Given the description of an element on the screen output the (x, y) to click on. 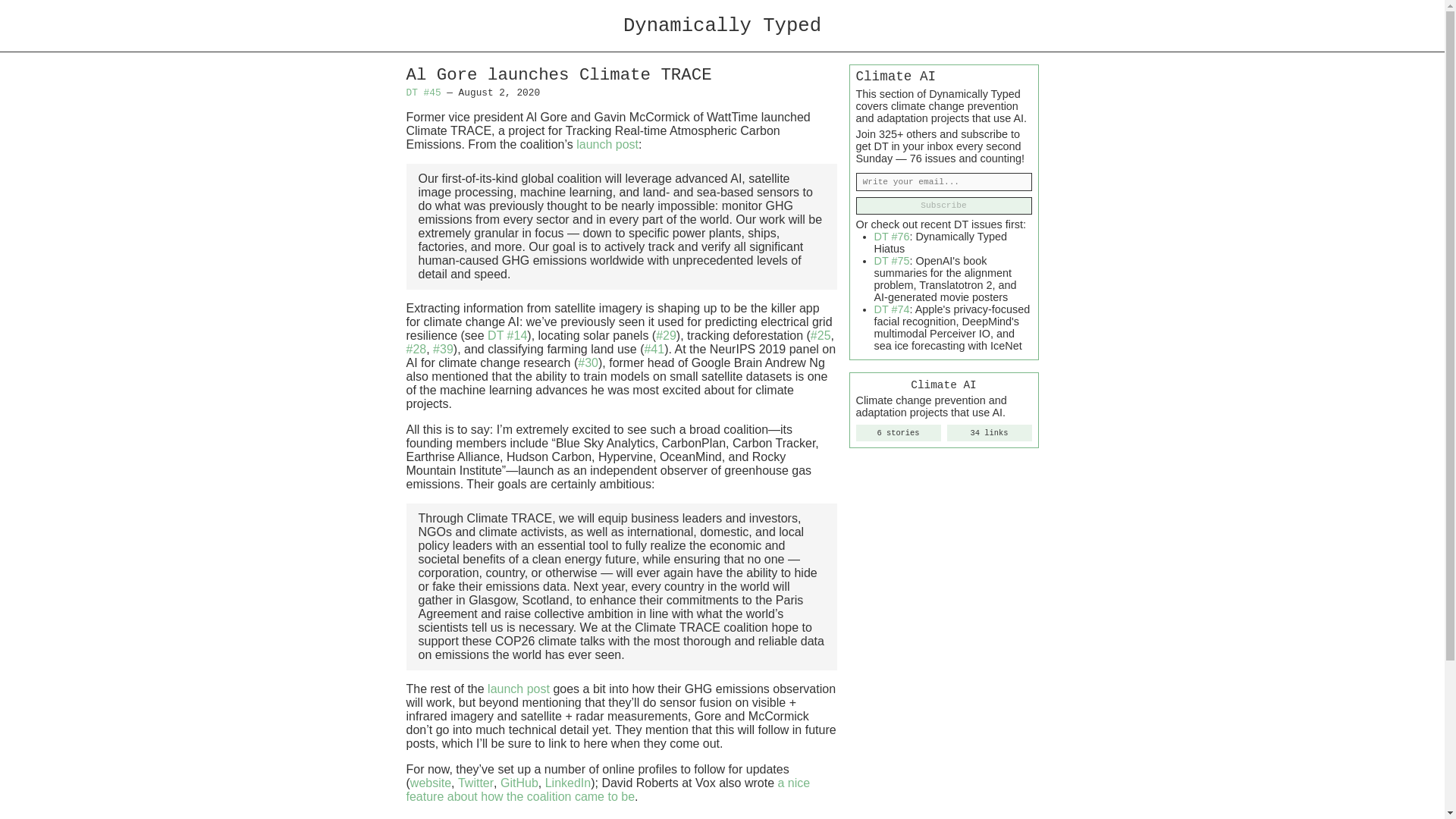
Subscribe (943, 206)
GitHub (519, 782)
Subscribe (943, 206)
launch post (607, 144)
website (430, 782)
launch post (518, 688)
6 stories (898, 433)
a nice feature about how the coalition came to be (608, 789)
34 links (988, 433)
Dynamically Typed (722, 25)
